Given the description of an element on the screen output the (x, y) to click on. 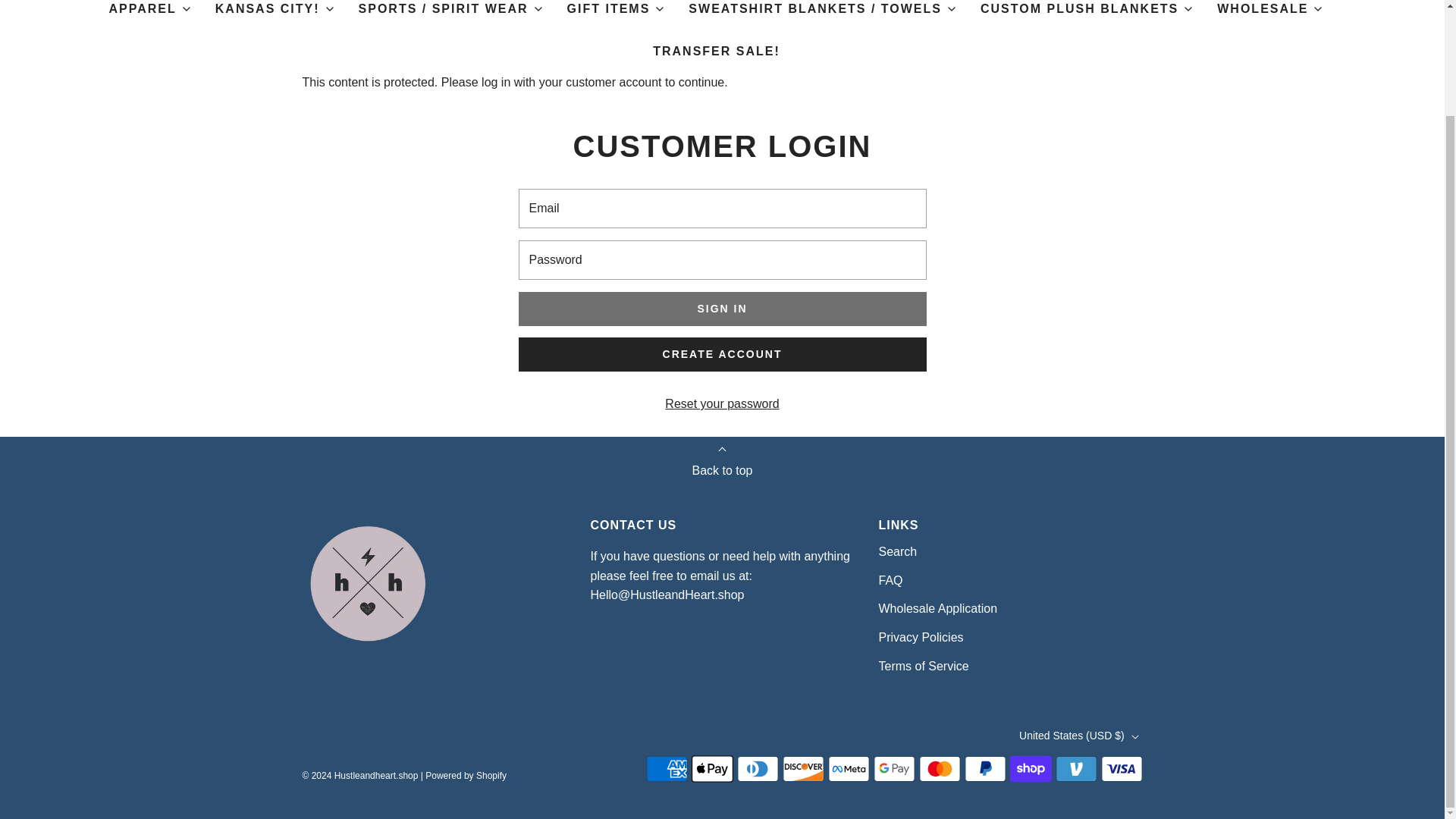
Meta Pay (848, 768)
Diners Club (757, 768)
Sign In (722, 308)
American Express (666, 768)
Google Pay (894, 768)
Apple Pay (712, 768)
Discover (803, 768)
PayPal (984, 768)
Mastercard (939, 768)
